Given the description of an element on the screen output the (x, y) to click on. 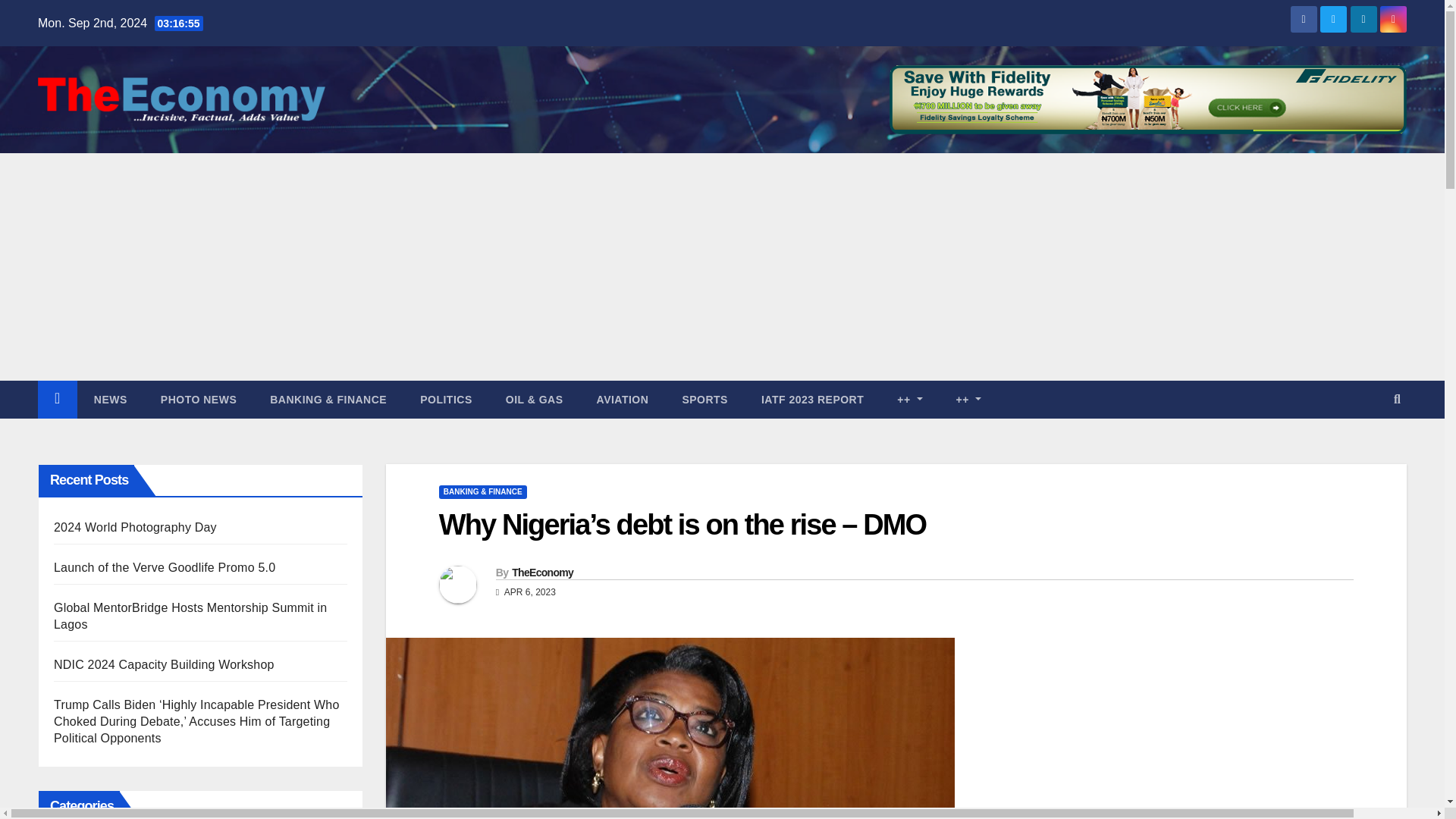
Politics (446, 399)
IATF 2023 REPORT (812, 399)
POLITICS (446, 399)
SPORTS (704, 399)
Aviation (622, 399)
IATF 2023 REPORT (812, 399)
Photo News (198, 399)
PHOTO NEWS (198, 399)
NEWS (110, 399)
